Given the description of an element on the screen output the (x, y) to click on. 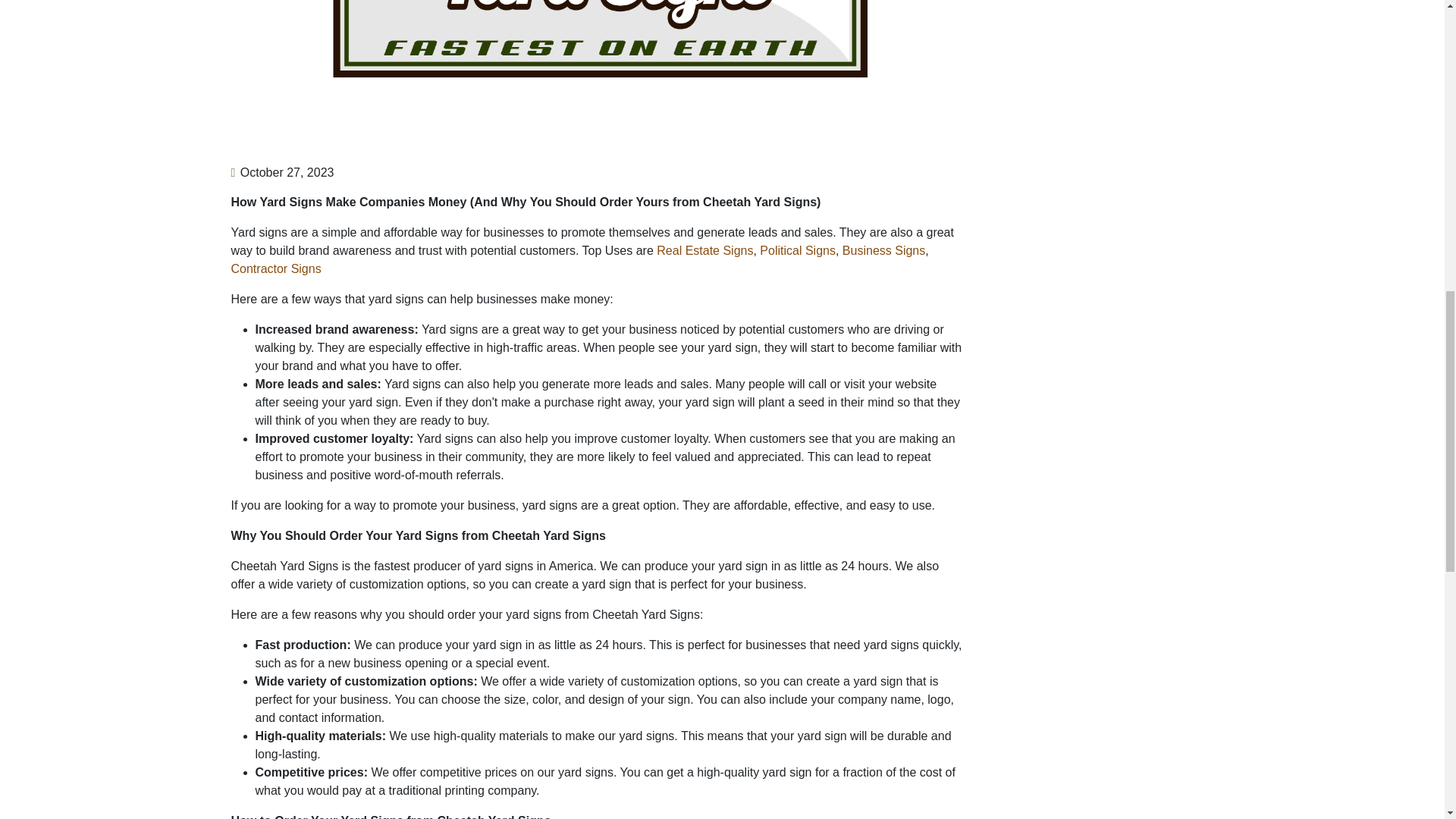
Fast Real Estate Signs (704, 250)
Contractor Yard Signs (275, 268)
Political Signs (797, 250)
Business Yard Signs (883, 250)
Fast Political Signs (797, 250)
Business Signs (883, 250)
Contractor Signs (275, 268)
Real Estate Signs (704, 250)
